Given the description of an element on the screen output the (x, y) to click on. 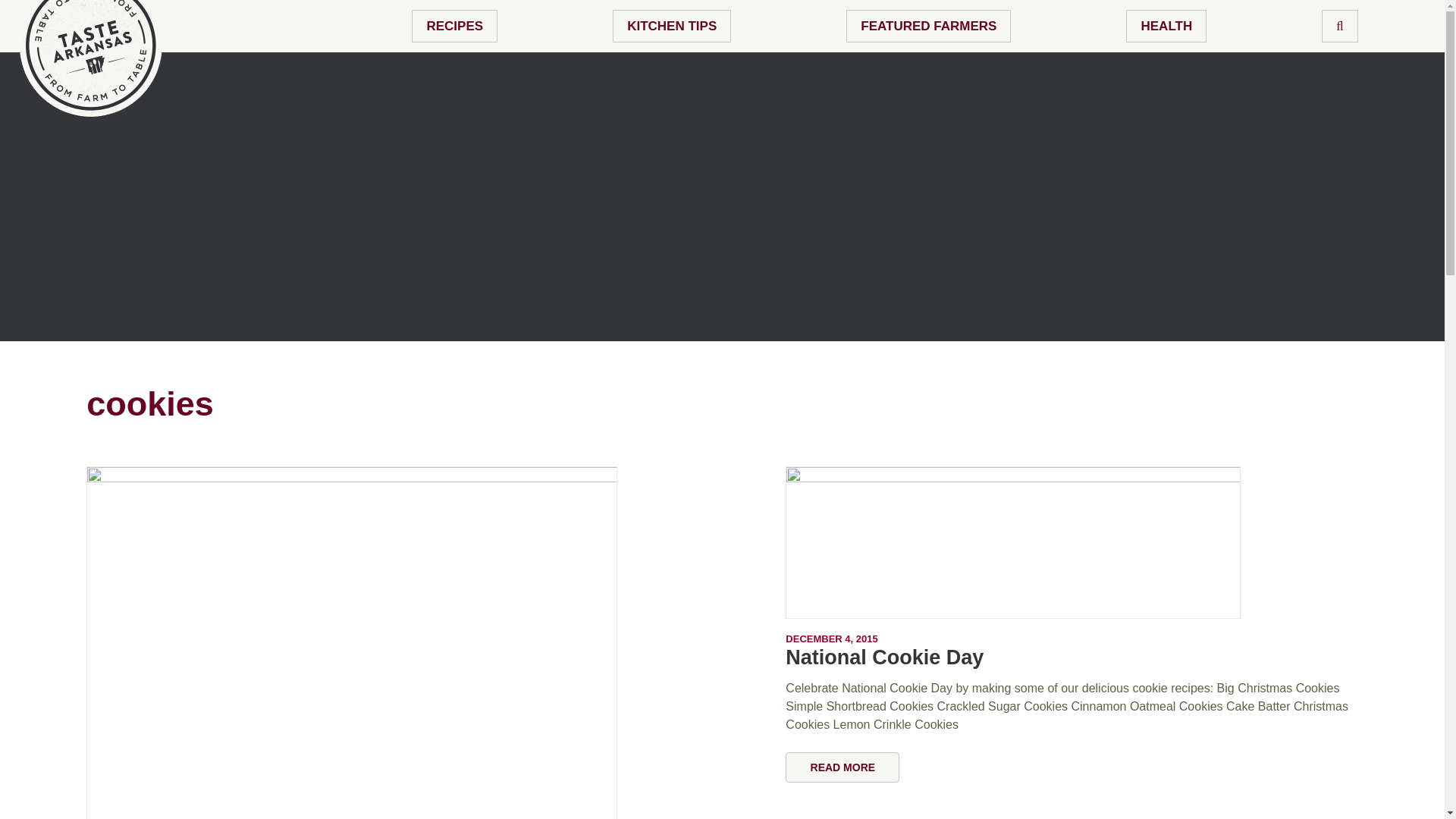
FEATURED FARMERS (927, 25)
National Cookie Day (1071, 542)
National Cookie Day (885, 657)
KITCHEN TIPS (671, 25)
RECIPES (454, 25)
HEALTH (1166, 25)
READ MORE (842, 767)
